Given the description of an element on the screen output the (x, y) to click on. 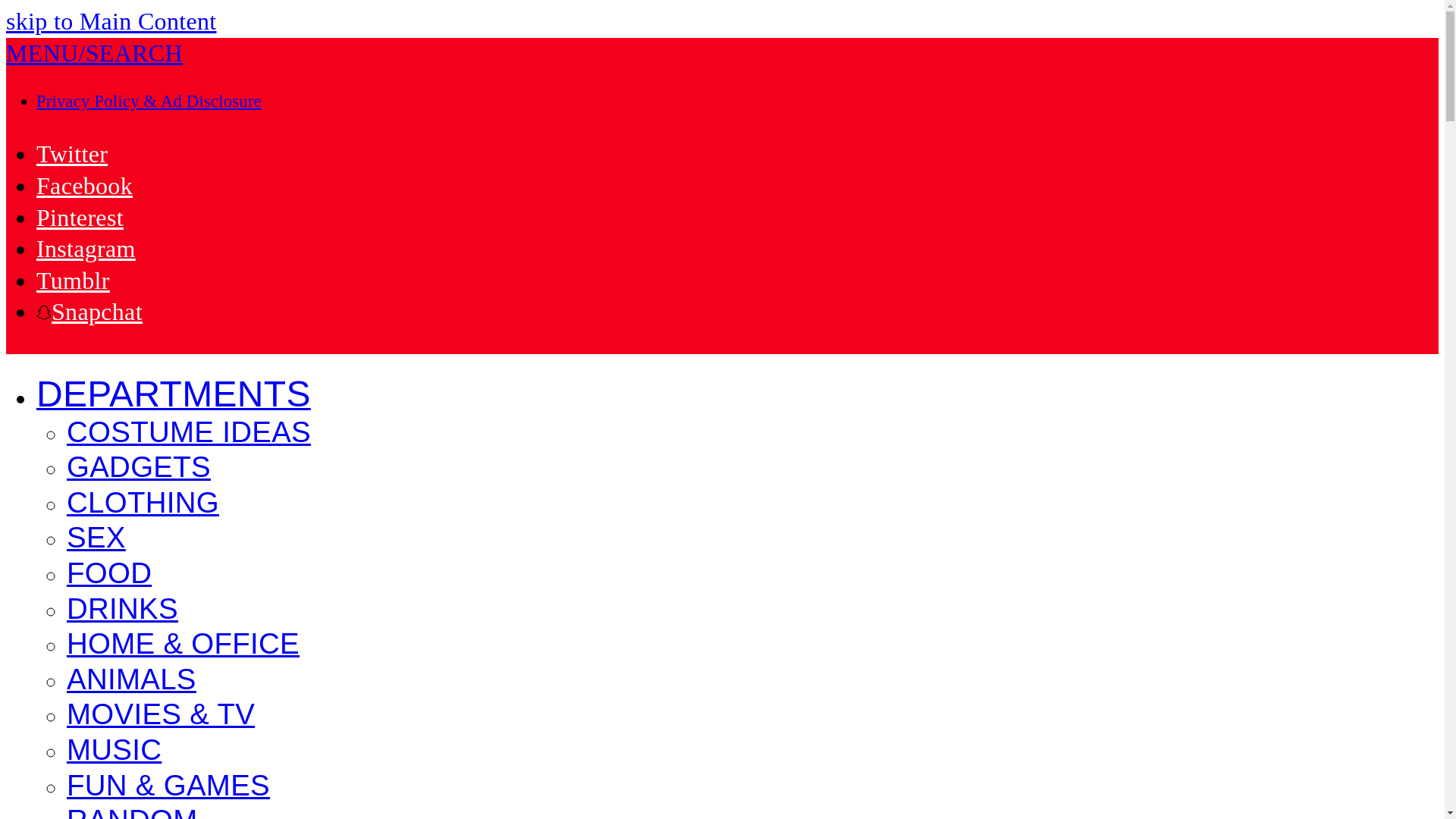
Instagram (85, 248)
skip to Main Content (110, 21)
COSTUME IDEAS (188, 433)
CLOTHING (142, 503)
Twitter (71, 153)
Facebook (84, 185)
Snapchat (89, 311)
Pinterest (79, 216)
ANIMALS (131, 680)
MUSIC (113, 750)
